Given the description of an element on the screen output the (x, y) to click on. 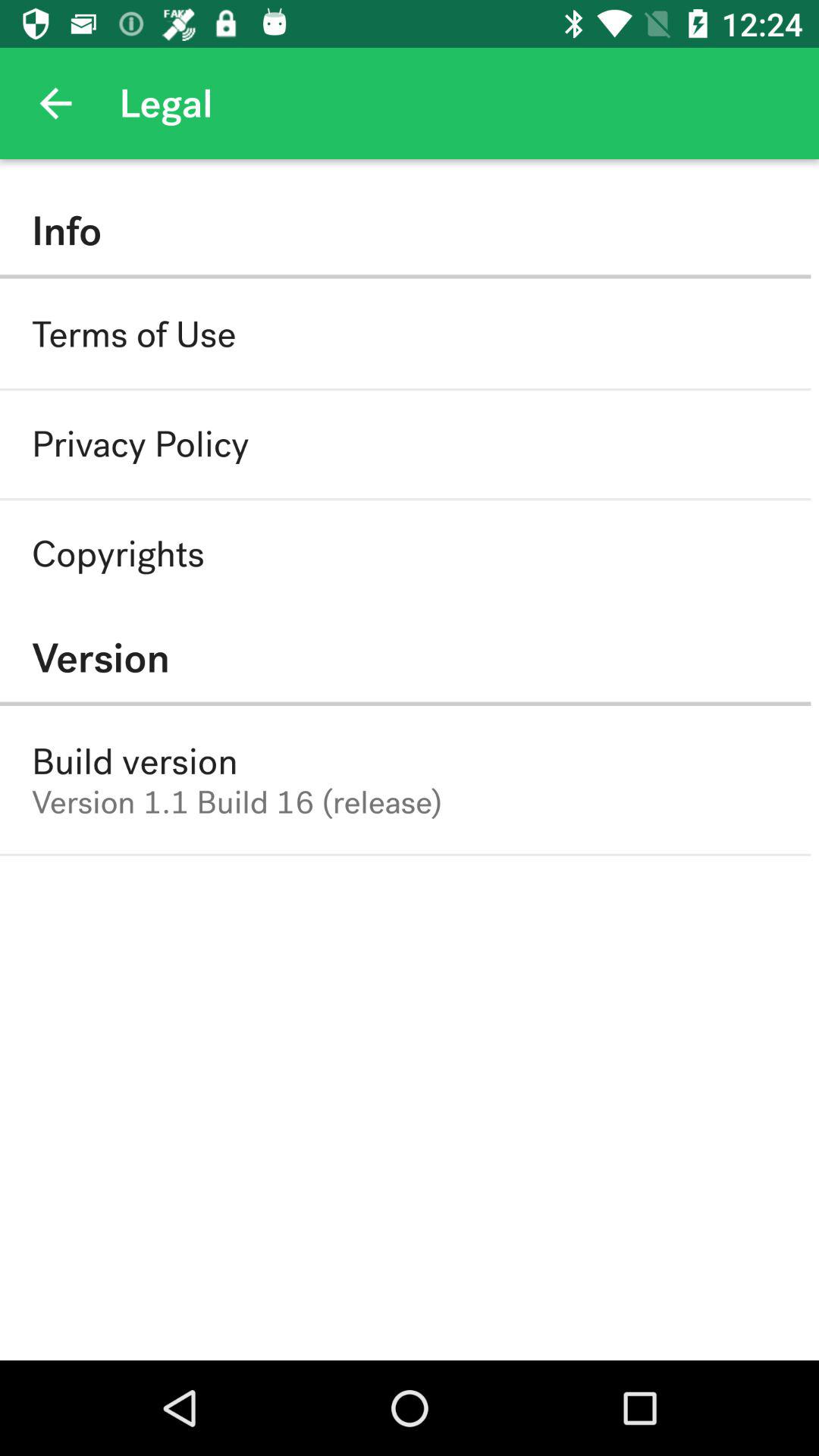
turn on the version 1 1 icon (236, 802)
